Given the description of an element on the screen output the (x, y) to click on. 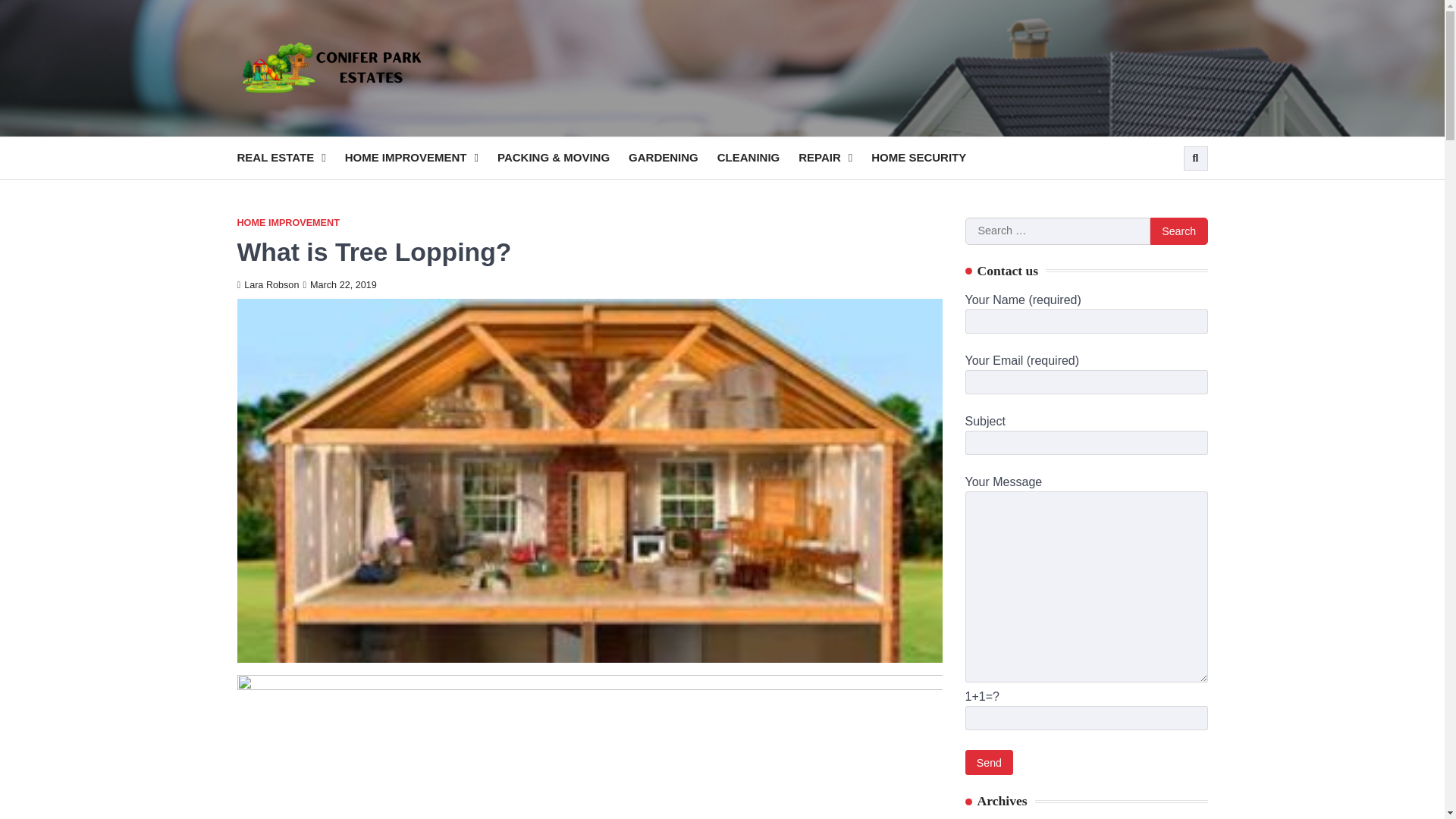
Send (988, 762)
Search (1179, 230)
REAL ESTATE (289, 158)
REPAIR (833, 158)
HOME IMPROVEMENT (421, 158)
Search (1167, 194)
Send (988, 762)
Lara Robson (266, 285)
Search (1179, 230)
Search (1179, 230)
GARDENING (672, 158)
HOME SECURITY (927, 158)
Search (1196, 158)
CLEANINIG (758, 158)
March 22, 2019 (338, 285)
